Given the description of an element on the screen output the (x, y) to click on. 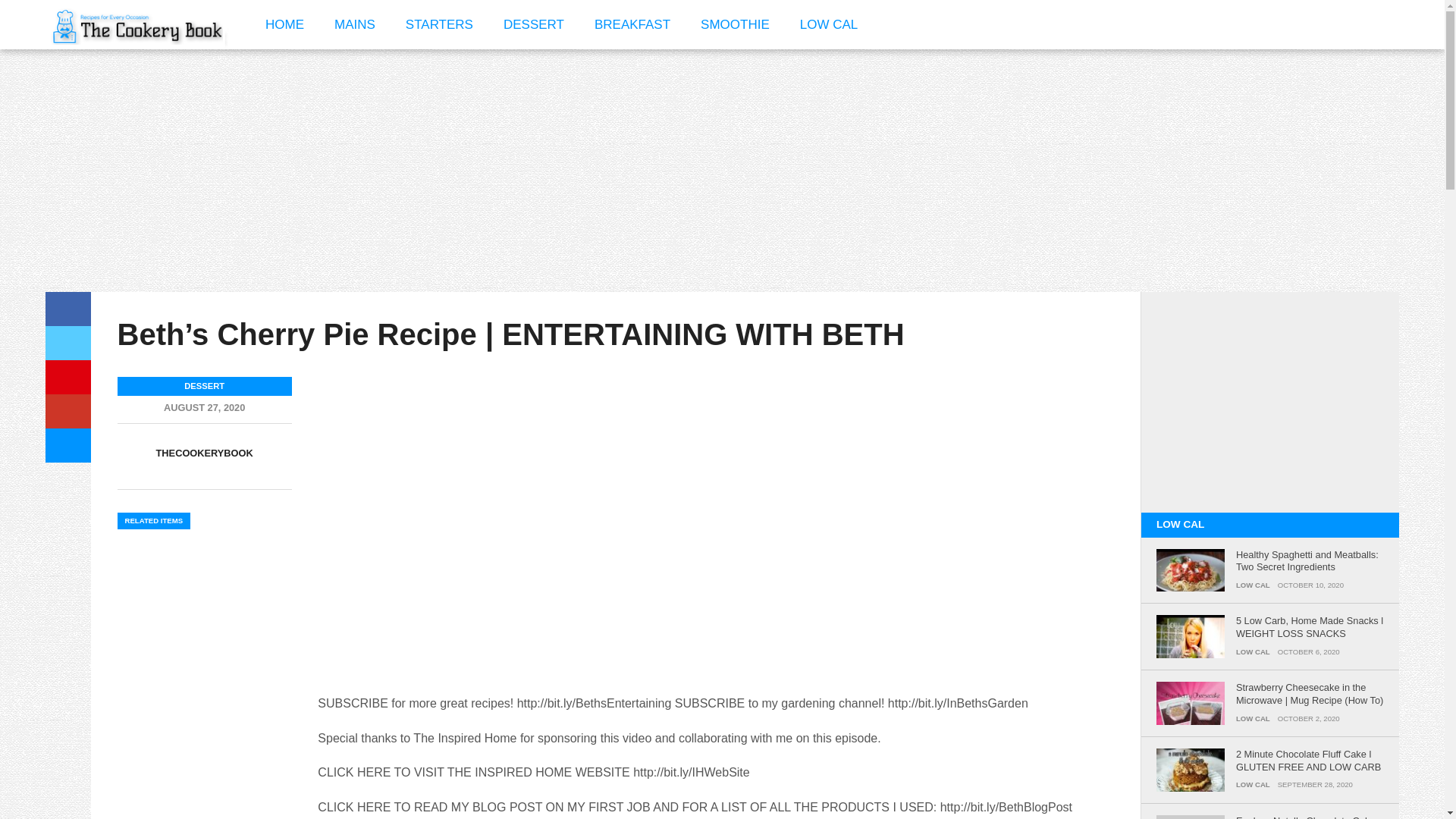
THECOOKERYBOOK (204, 452)
BREAKFAST (632, 24)
Pin This Post (67, 376)
STARTERS (438, 24)
SMOOTHIE (734, 24)
HOME (284, 24)
Tweet This Post (67, 342)
Share on Facebook (67, 308)
MAINS (354, 24)
DESSERT (533, 24)
LOW CAL (828, 24)
Posts by thecookerybook (204, 452)
